Given the description of an element on the screen output the (x, y) to click on. 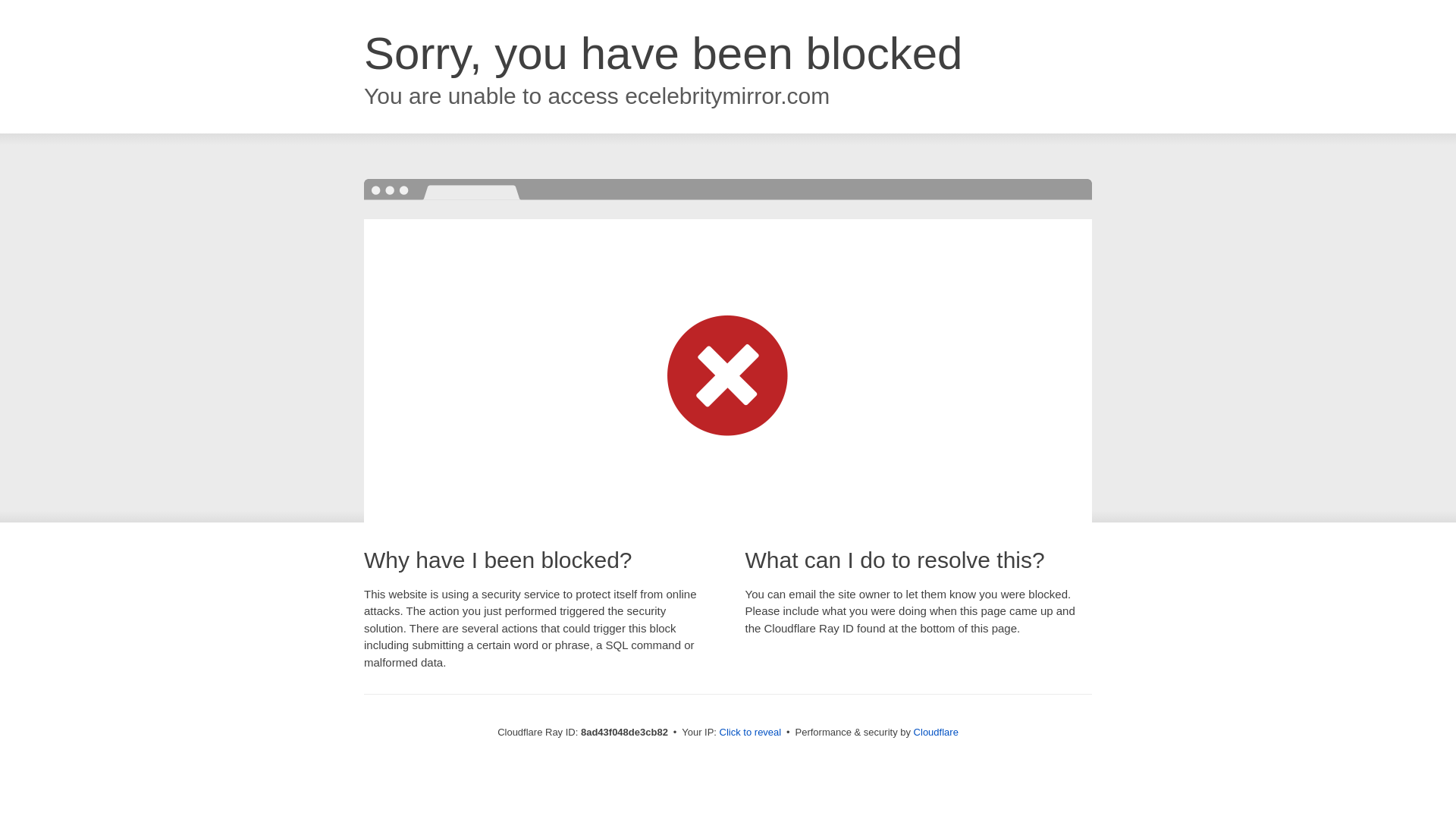
Cloudflare (936, 731)
Click to reveal (750, 732)
